Given the description of an element on the screen output the (x, y) to click on. 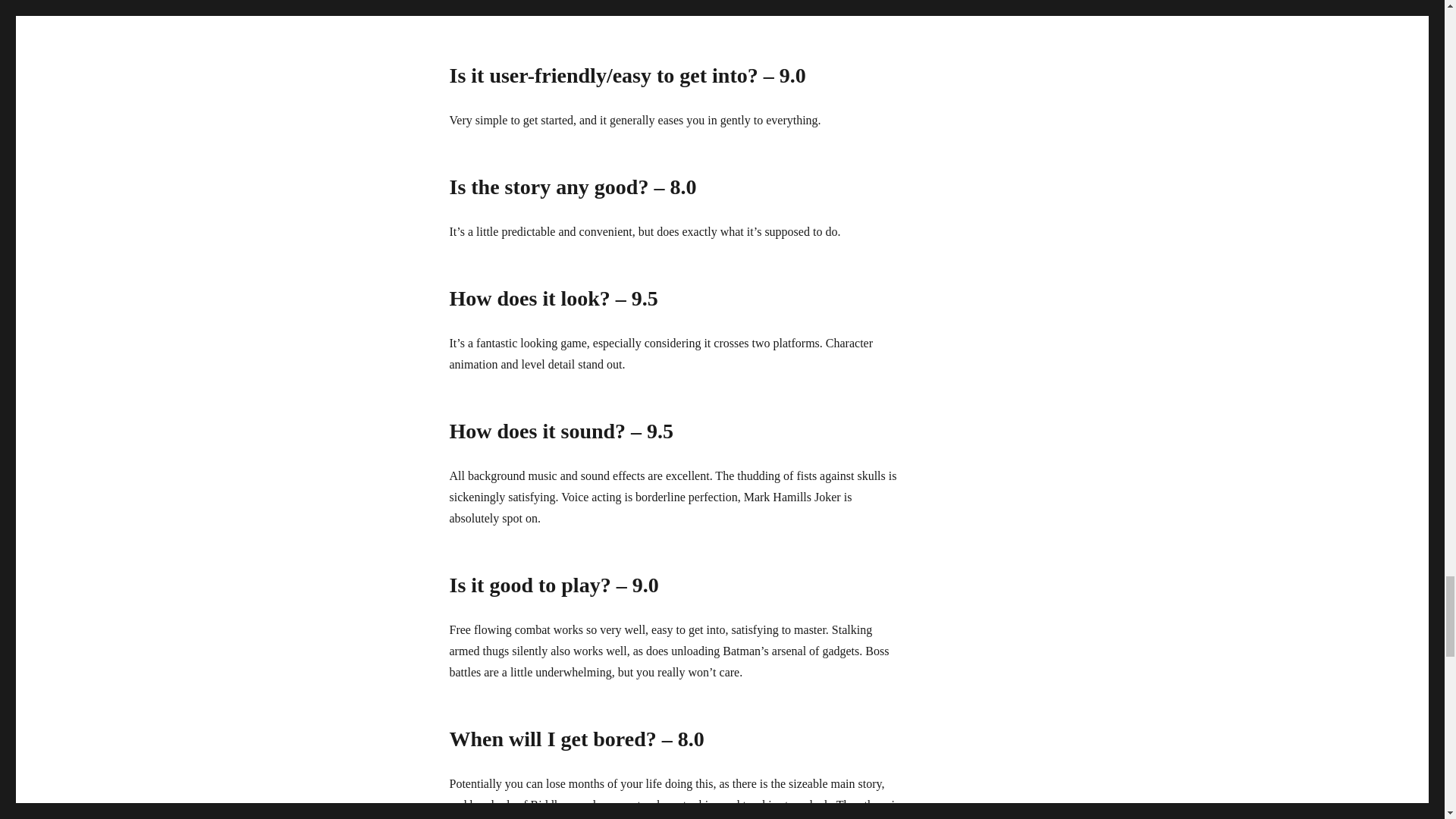
Back To Top (479, 8)
